Given the description of an element on the screen output the (x, y) to click on. 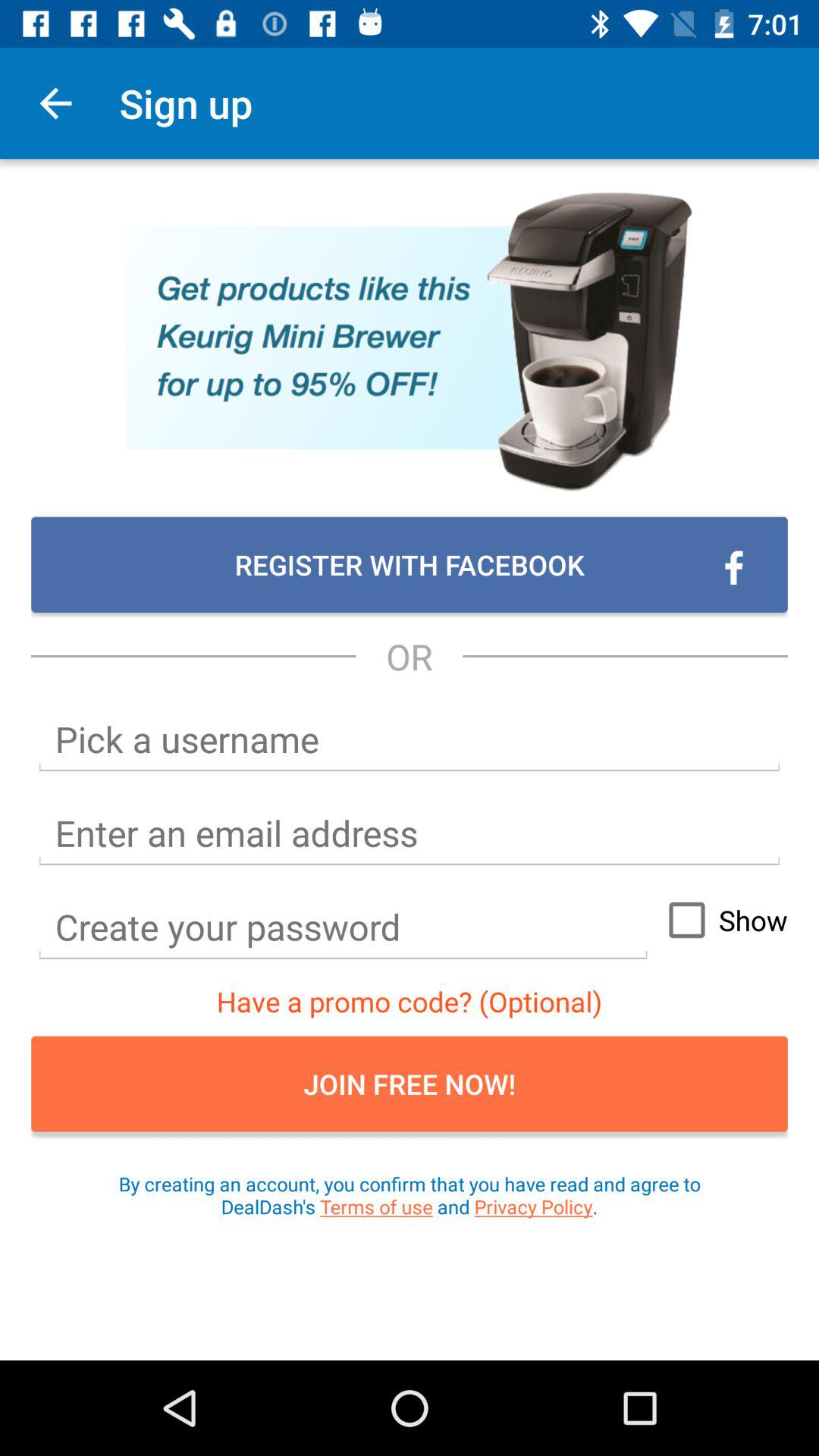
choose the icon above join free now! (721, 920)
